Given the description of an element on the screen output the (x, y) to click on. 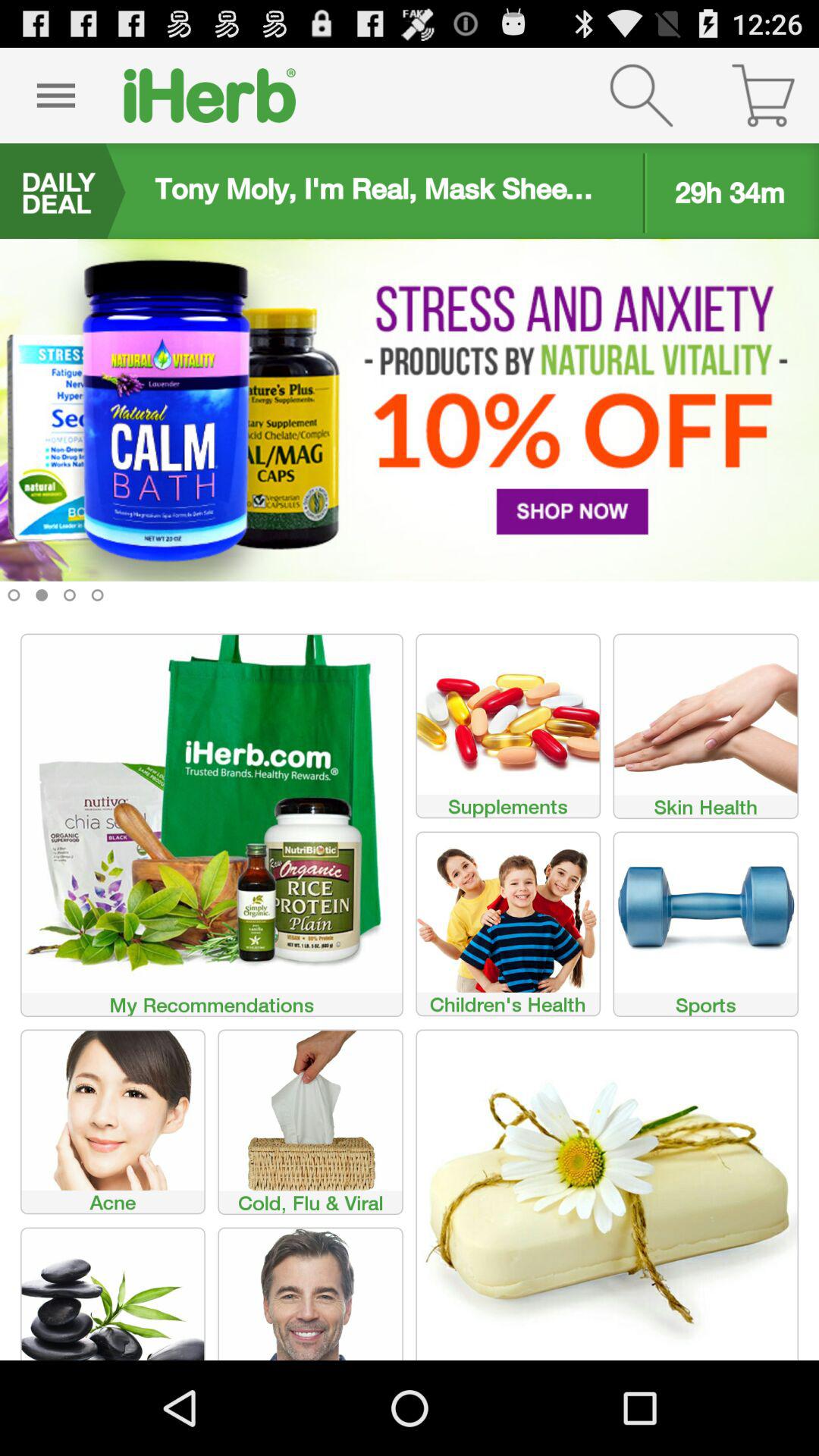
click pause button (55, 95)
